Given the description of an element on the screen output the (x, y) to click on. 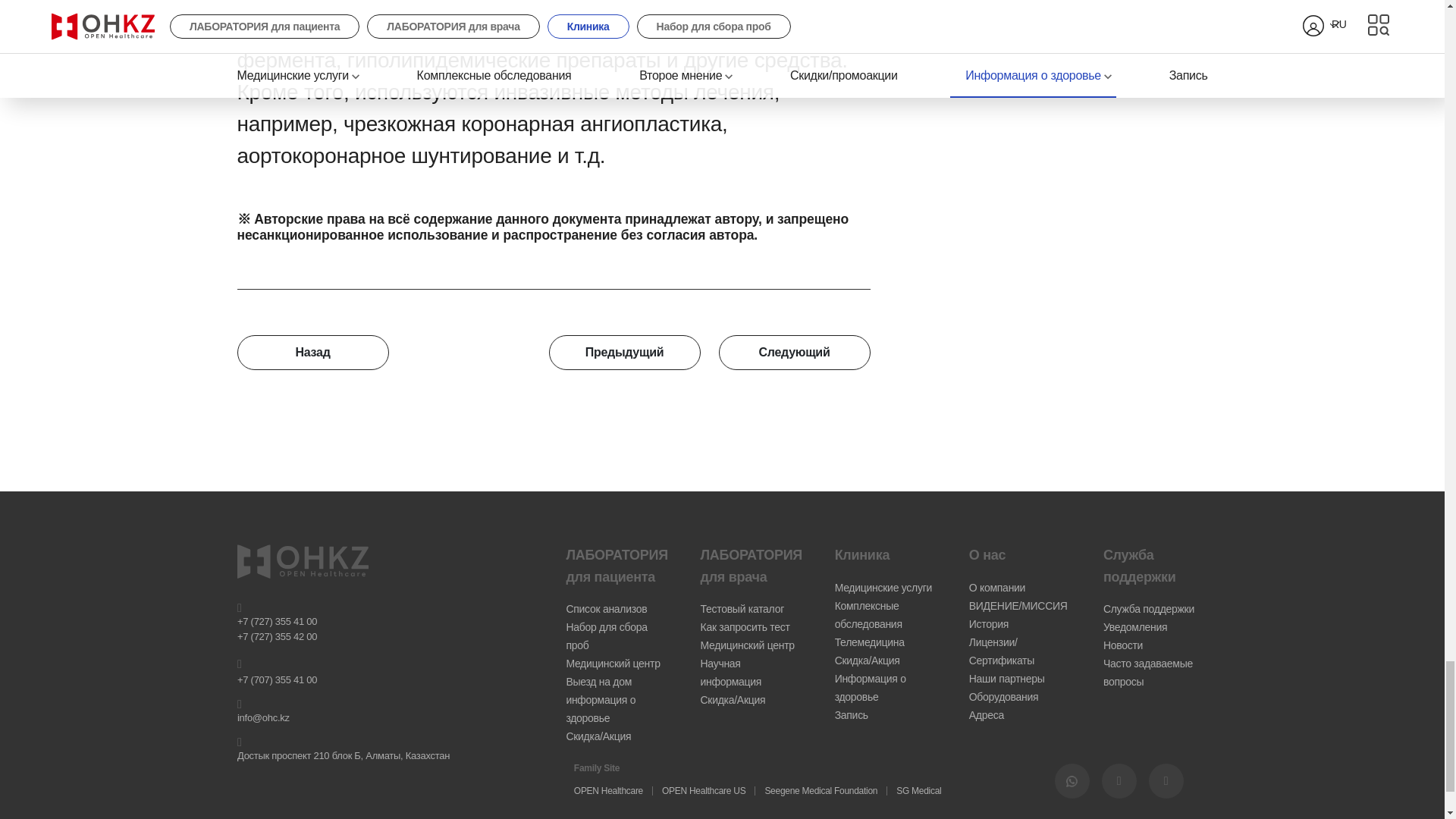
OHKZ (1071, 780)
OHKZ (1165, 780)
OHKZ (1117, 780)
